Given the description of an element on the screen output the (x, y) to click on. 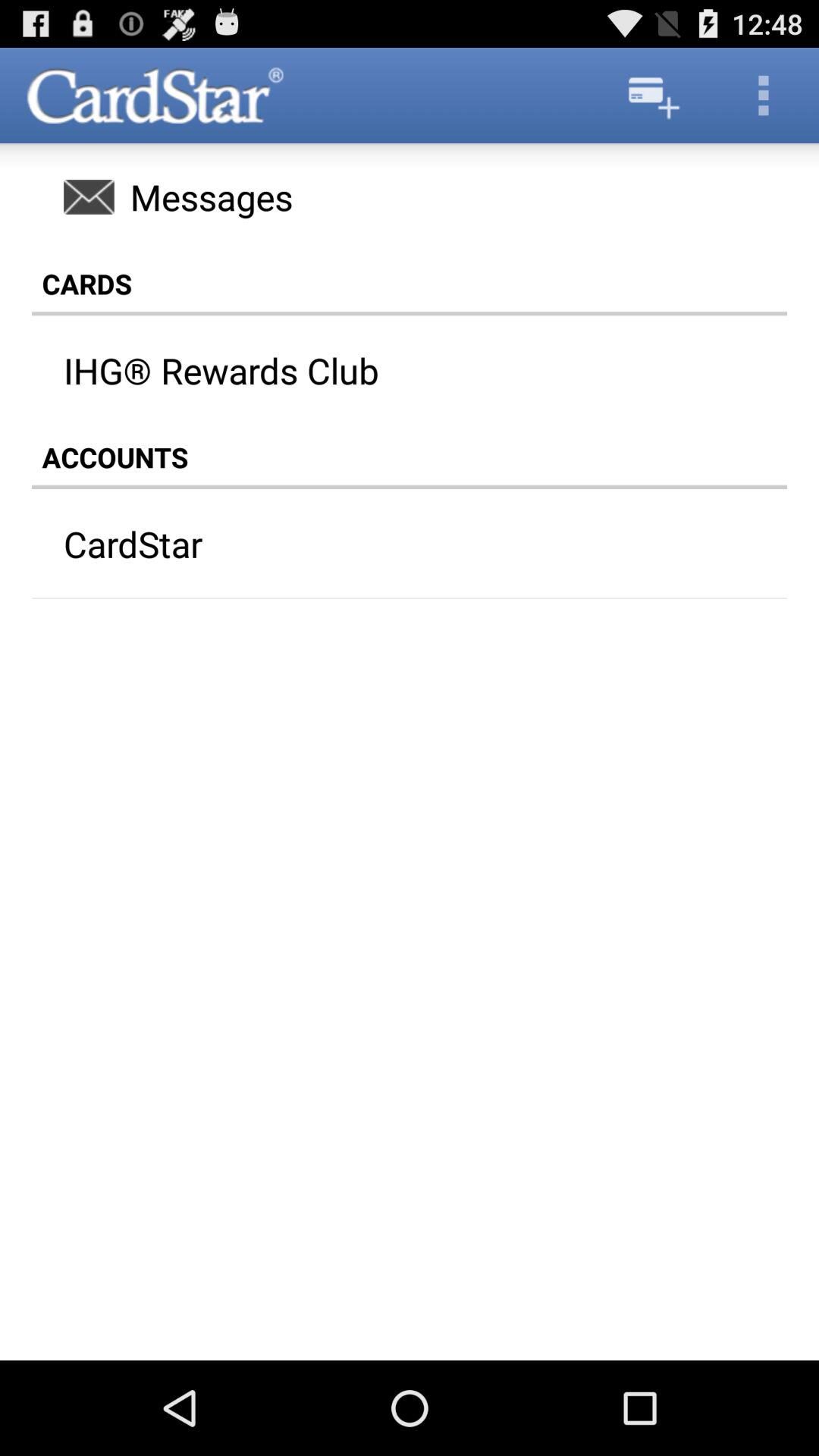
tap cardstar icon (379, 543)
